Given the description of an element on the screen output the (x, y) to click on. 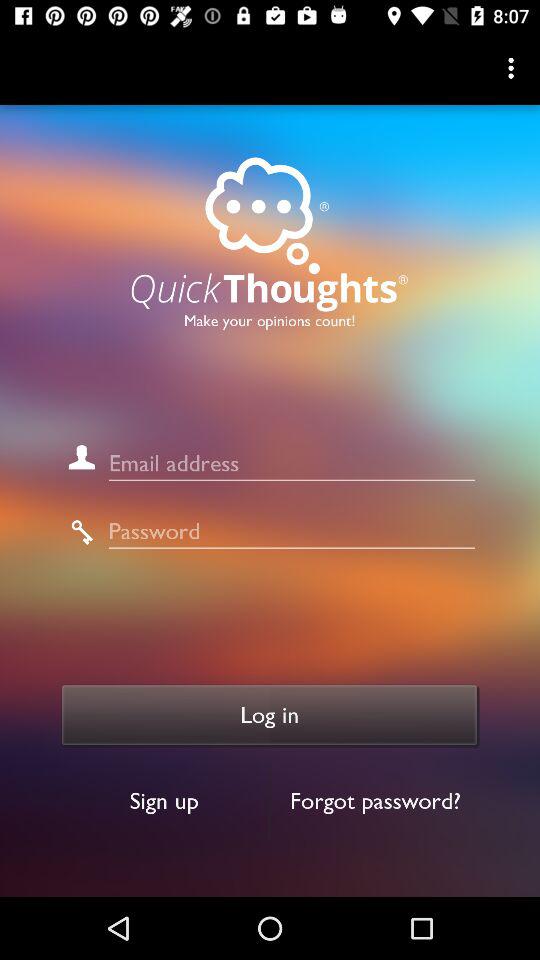
turn off the sign up (164, 800)
